Given the description of an element on the screen output the (x, y) to click on. 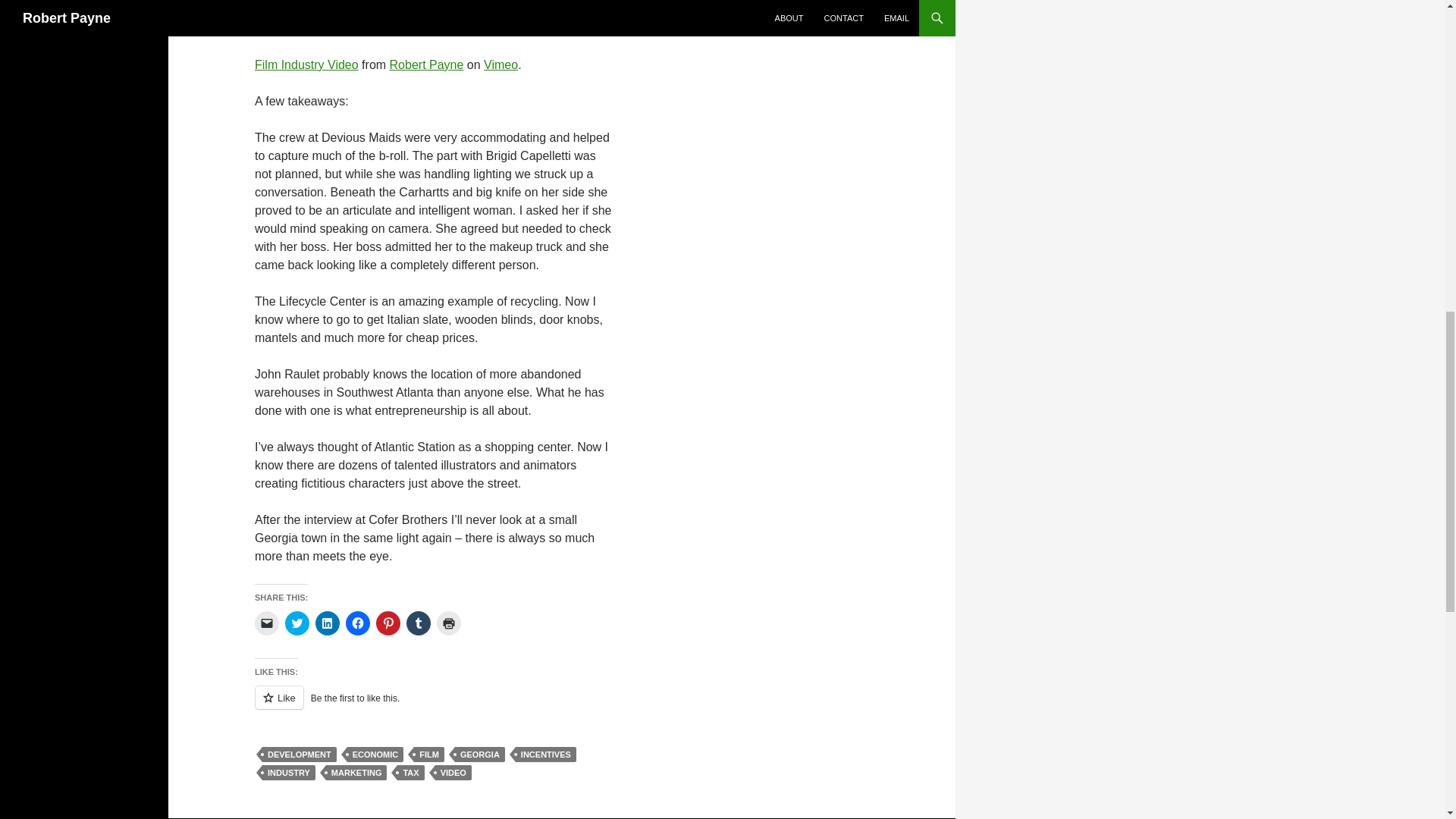
Click to share on Twitter (296, 622)
Click to share on LinkedIn (327, 622)
VIDEO (453, 772)
FILM (428, 754)
GEORGIA (479, 754)
Robert Payne (427, 64)
DEVELOPMENT (299, 754)
INCENTIVES (545, 754)
Like or Reblog (434, 706)
Click to share on Pinterest (387, 622)
Click to share on Facebook (357, 622)
Vimeo (500, 64)
ECONOMIC (375, 754)
Click to email a link to a friend (266, 622)
TAX (410, 772)
